Given the description of an element on the screen output the (x, y) to click on. 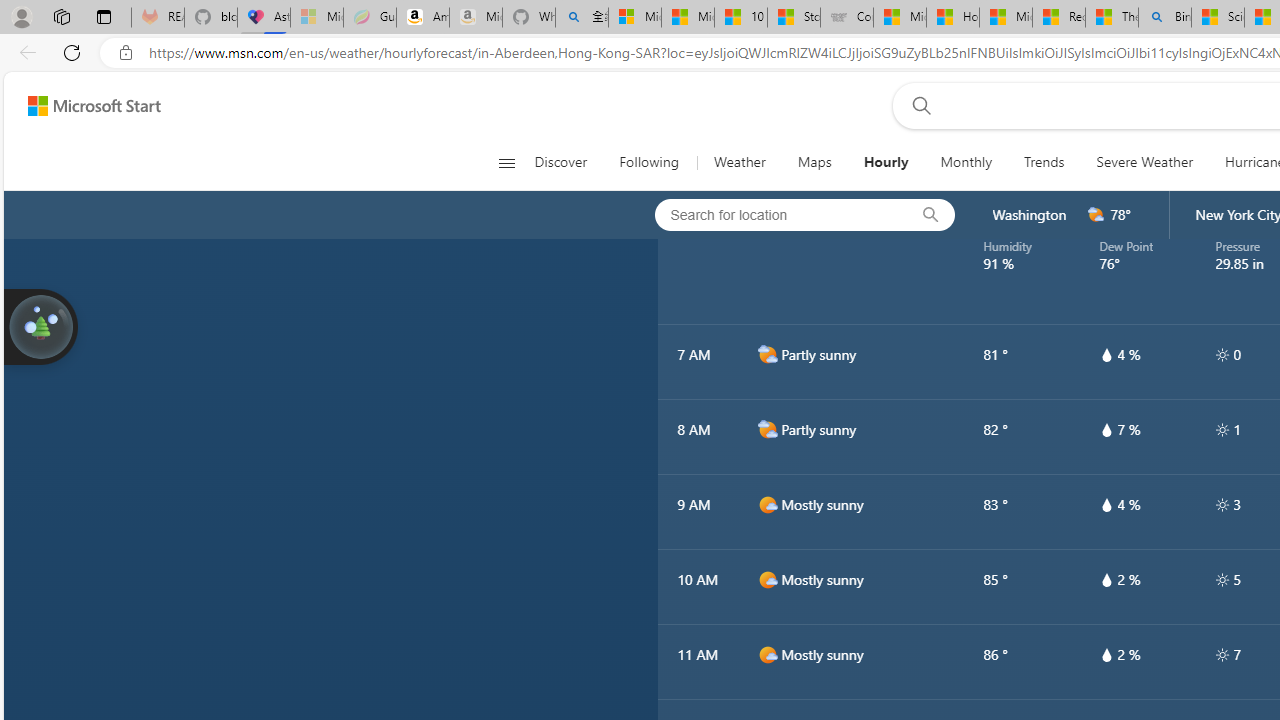
n2000 (767, 102)
Trends (1044, 162)
Severe Weather (1144, 162)
Class: button-glyph (505, 162)
Asthma Inhalers: Names and Types (264, 17)
Web search (917, 105)
Stocks - MSN (794, 17)
Monthly (966, 162)
Microsoft-Report a Concern to Bing - Sleeping (316, 17)
